Given the description of an element on the screen output the (x, y) to click on. 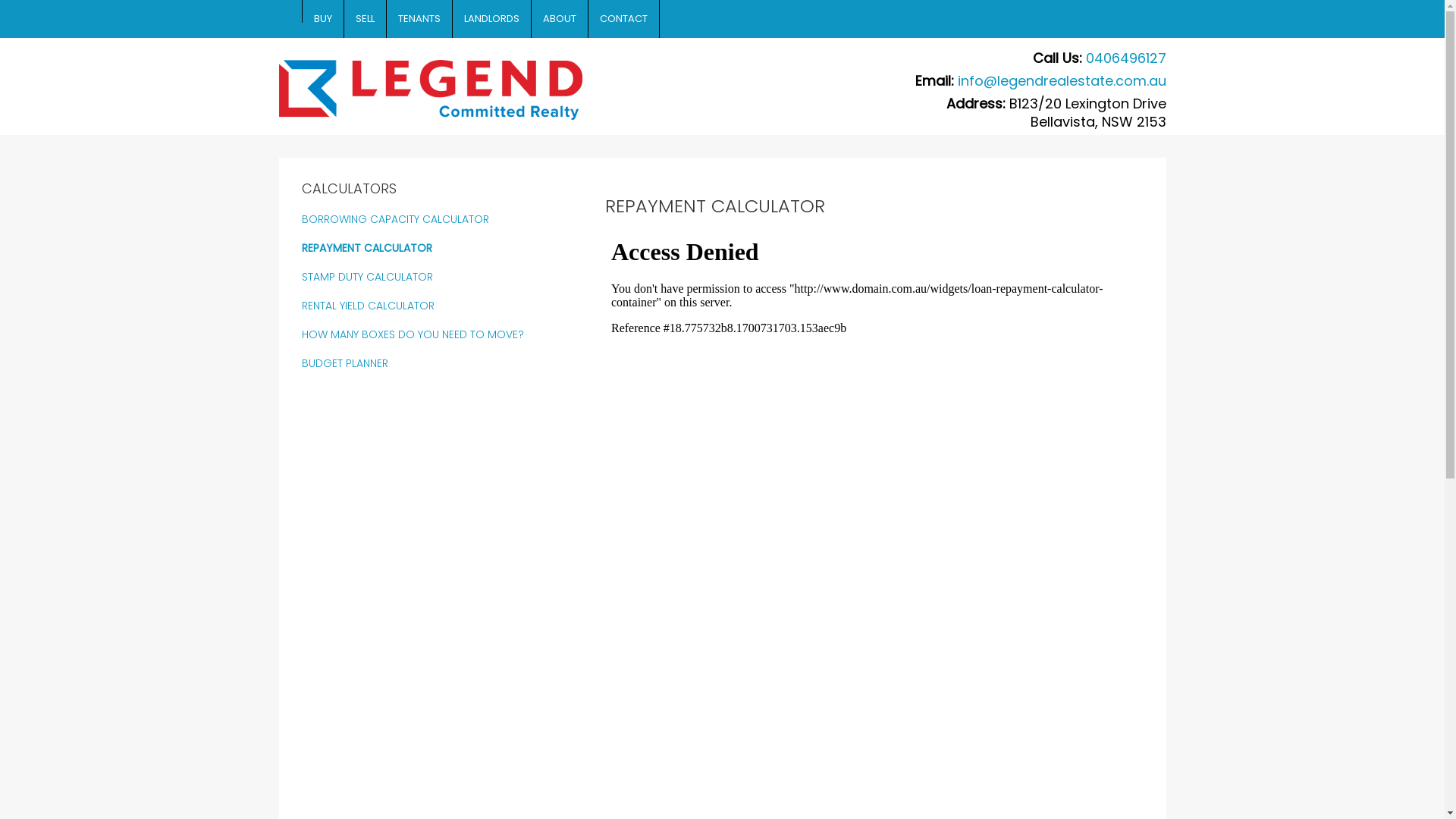
RENTAL YIELD CALCULATOR Element type: text (367, 305)
info@legendrealestate.com.au Element type: text (1061, 80)
HOW MANY BOXES DO YOU NEED TO MOVE? Element type: text (412, 334)
TENANTS Element type: text (419, 18)
LANDLORDS Element type: text (490, 18)
SELL Element type: text (365, 18)
BUDGET PLANNER Element type: text (344, 362)
ABOUT Element type: text (558, 18)
BUY Element type: text (322, 18)
BORROWING CAPACITY CALCULATOR Element type: text (395, 218)
STAMP DUTY CALCULATOR Element type: text (367, 276)
0406496127 Element type: text (1125, 57)
REPAYMENT CALCULATOR Element type: text (366, 247)
CONTACT Element type: text (623, 18)
